Given the description of an element on the screen output the (x, y) to click on. 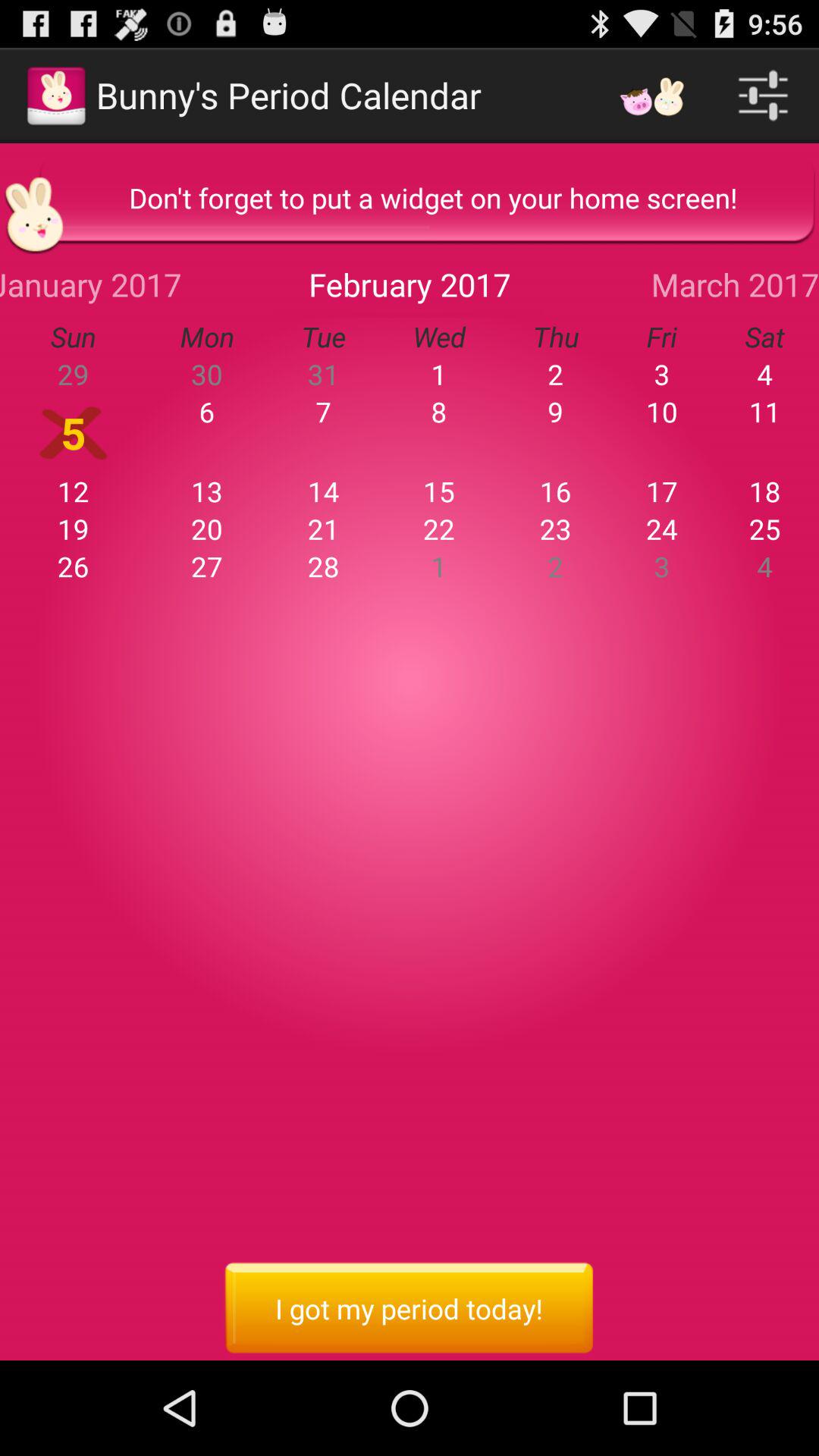
tap 19 (73, 528)
